Given the description of an element on the screen output the (x, y) to click on. 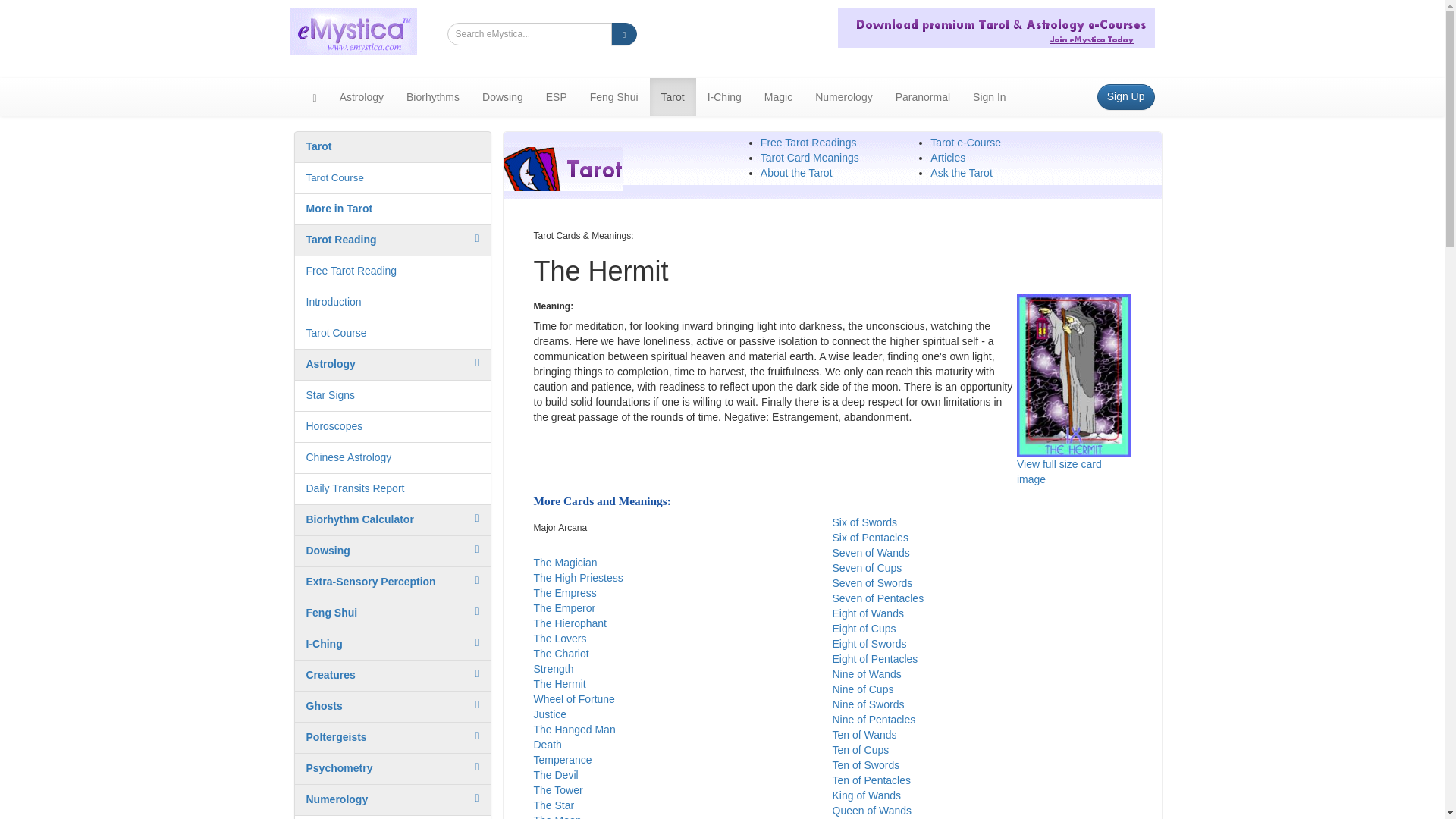
More in Tarot (338, 208)
Tarot (318, 146)
Dowsing (327, 550)
Biorhythms (432, 96)
Astrology (330, 363)
Magic (777, 96)
Sign In (988, 96)
Horoscopes (333, 426)
Feng Shui (613, 96)
I-Ching (323, 644)
Free Tarot Reading (351, 270)
Star Signs (330, 395)
ESP (556, 96)
Daily Transits Report (354, 488)
